Given the description of an element on the screen output the (x, y) to click on. 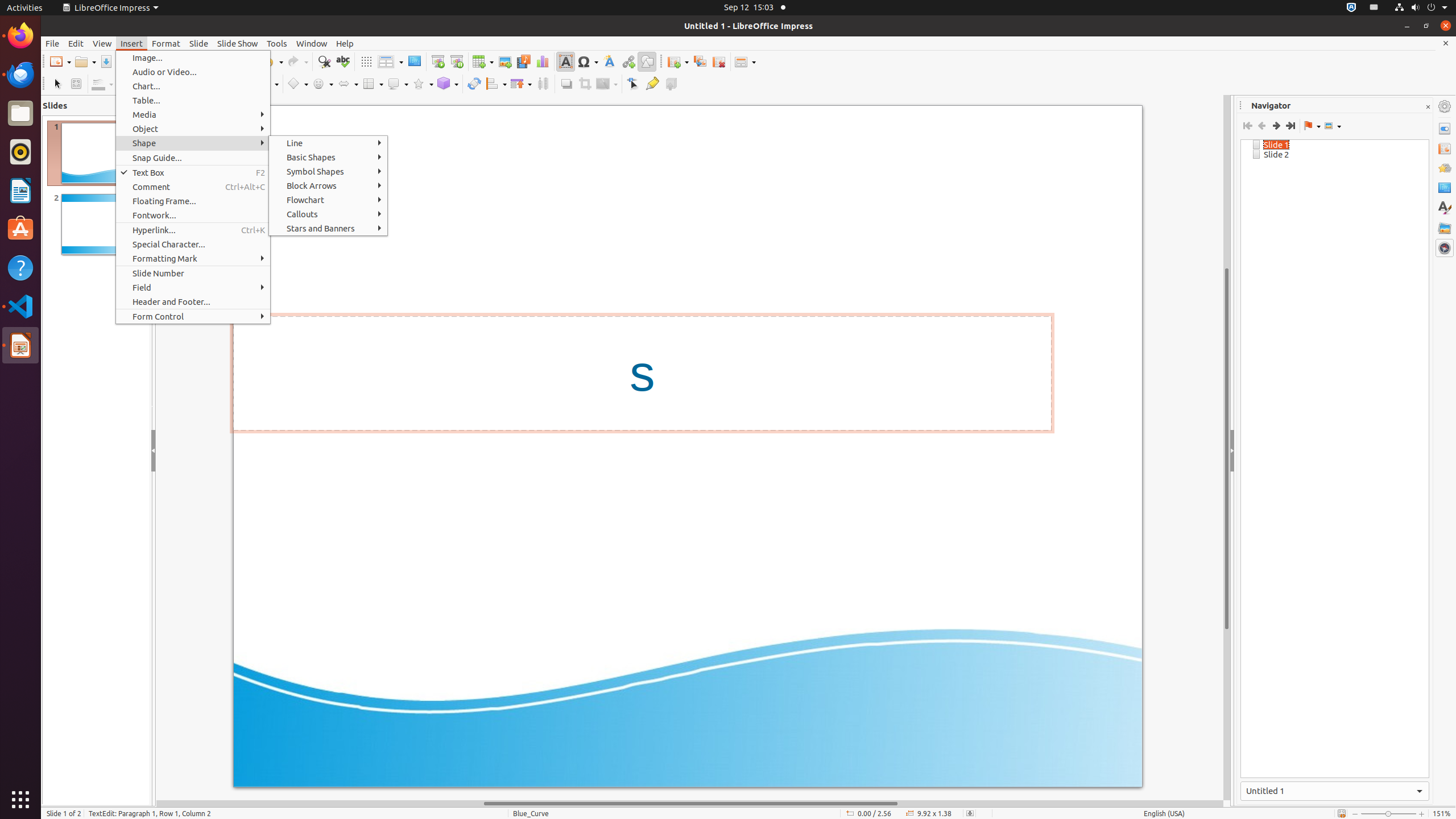
Line Color Element type: push-button (101, 83)
Gallery Element type: radio-button (1444, 227)
Chart... Element type: menu-item (193, 86)
Symbol Shapes Element type: menu (328, 171)
